Given the description of an element on the screen output the (x, y) to click on. 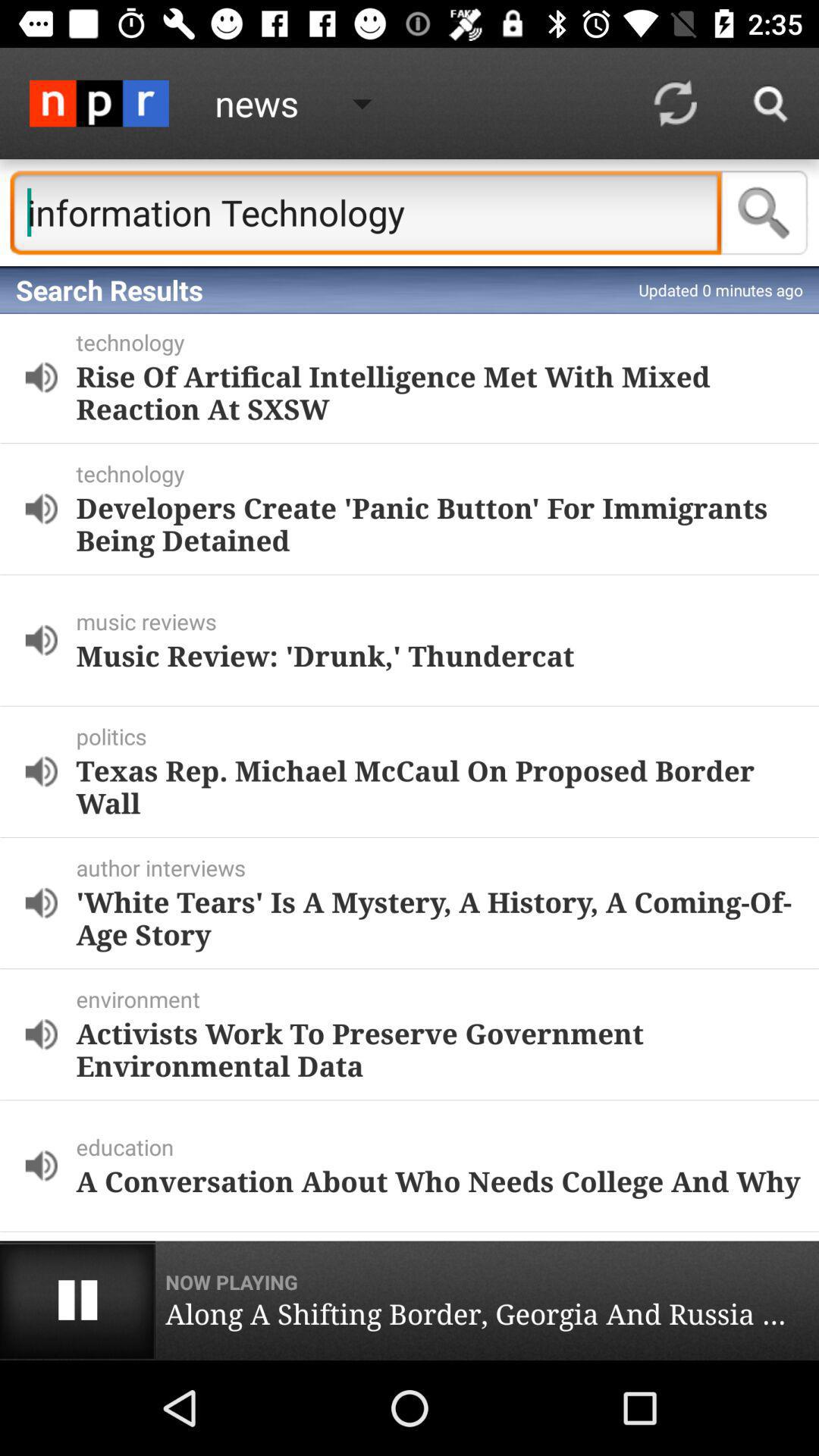
scroll until environment (444, 998)
